Given the description of an element on the screen output the (x, y) to click on. 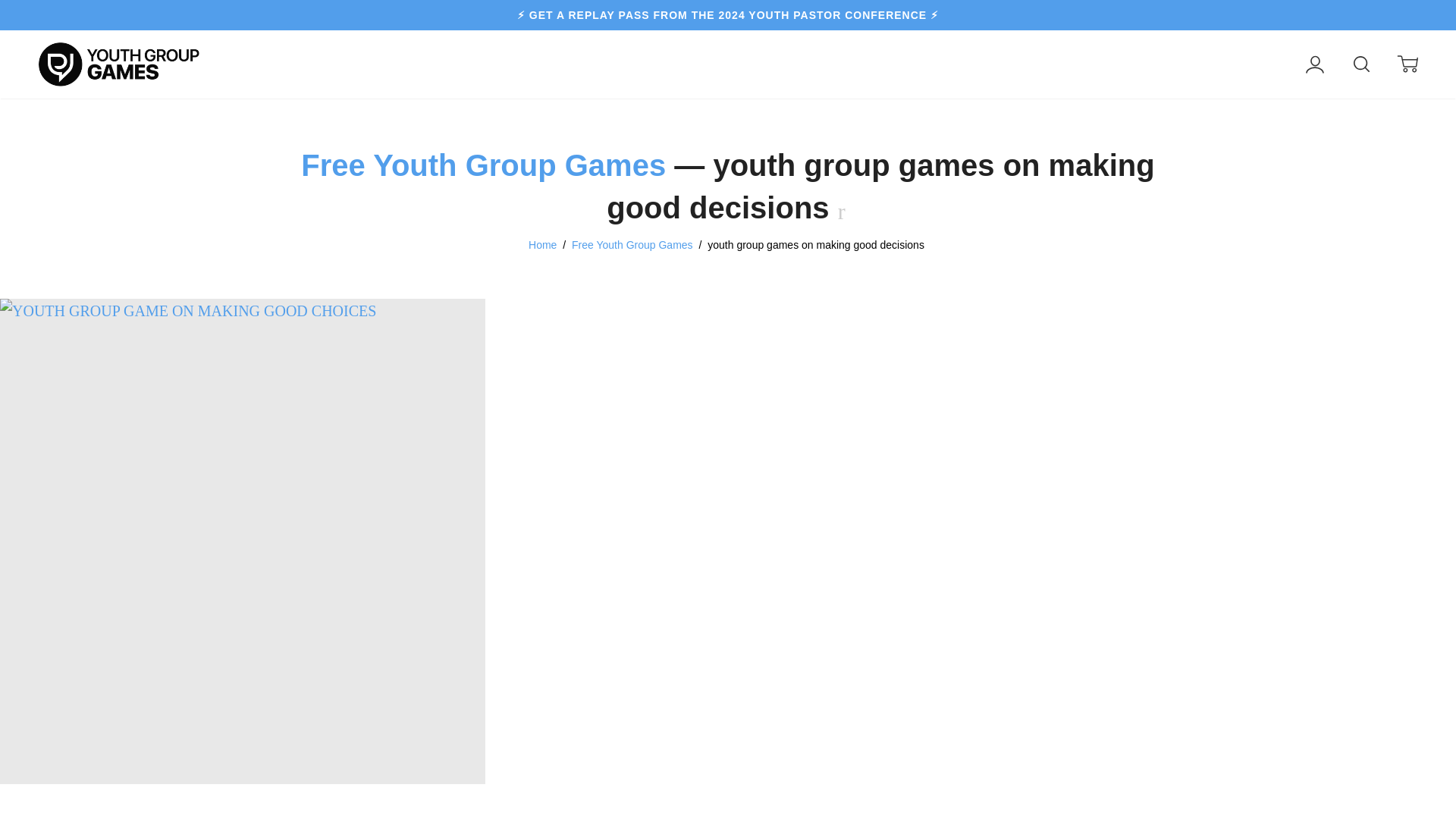
Back to the frontpage (542, 244)
Free Youth Group Games (633, 244)
Free Youth Group Games (483, 164)
Home (542, 244)
